Given the description of an element on the screen output the (x, y) to click on. 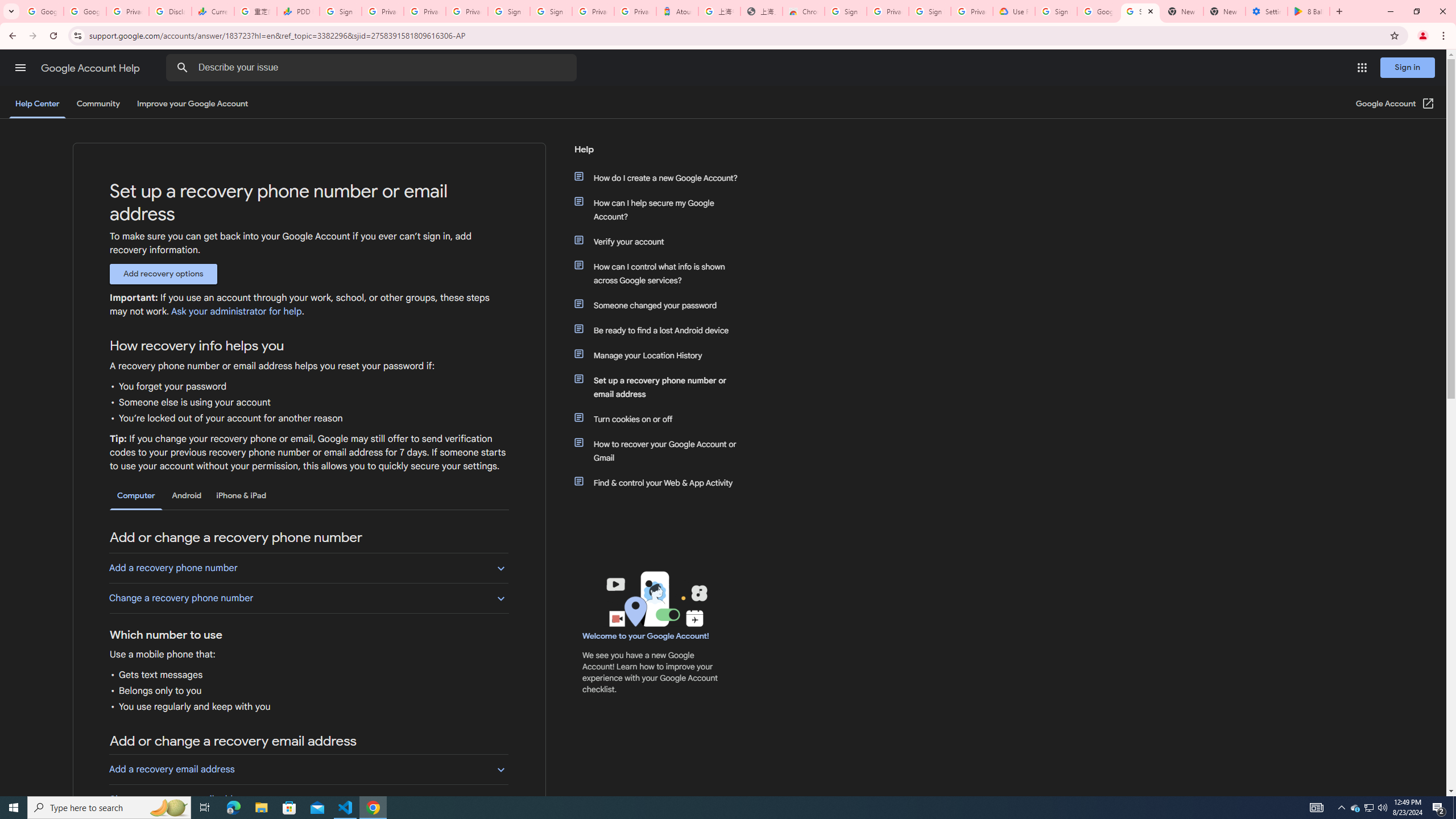
iPhone & iPad (240, 495)
Google apps (1362, 67)
Main menu (20, 67)
New Tab (1224, 11)
Find & control your Web & App Activity (661, 482)
Ask your administrator for help (235, 311)
Manage your Location History (661, 355)
Community (97, 103)
Sign in - Google Accounts (509, 11)
